Given the description of an element on the screen output the (x, y) to click on. 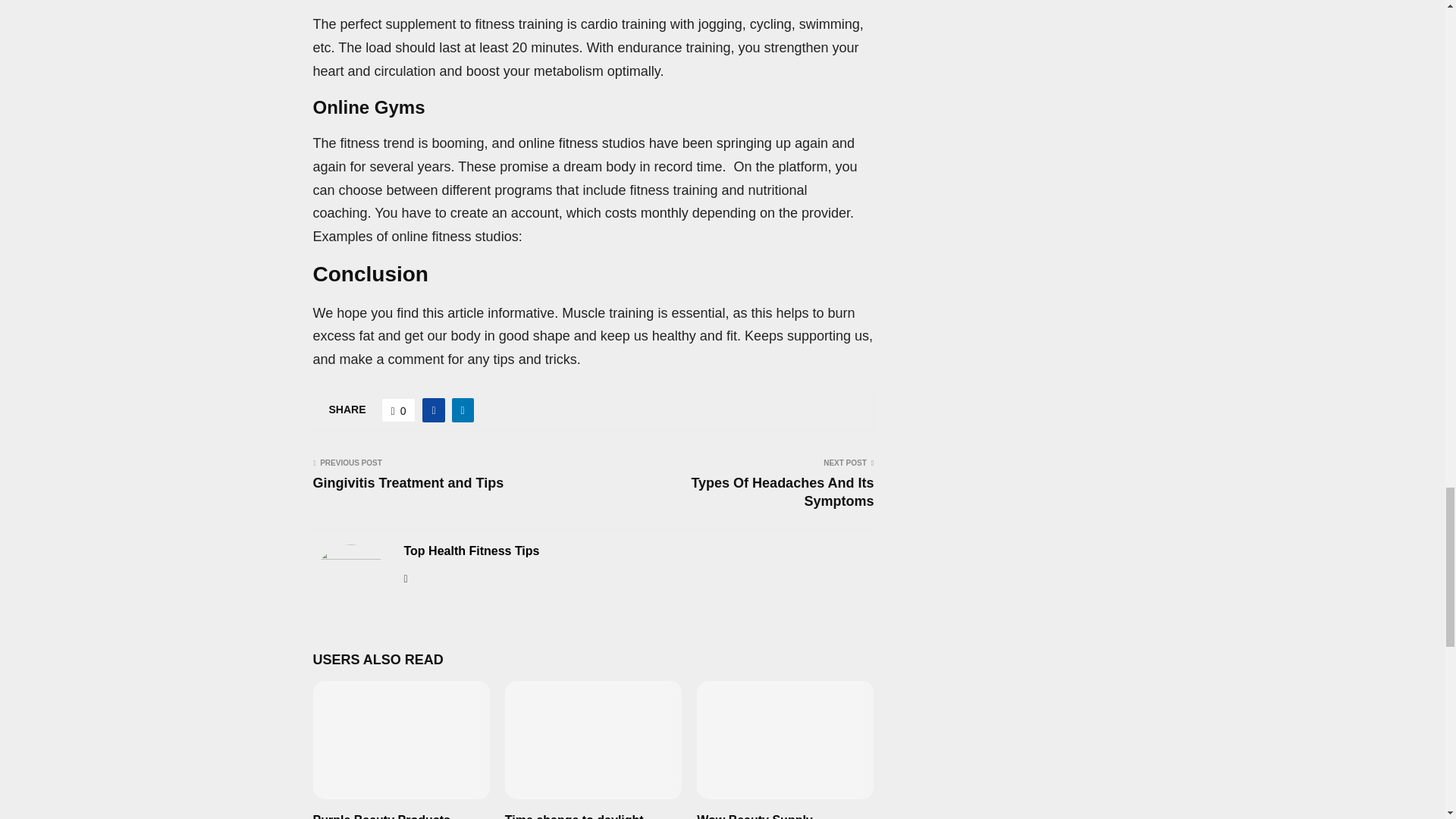
Like (398, 410)
0 (398, 410)
